Given the description of an element on the screen output the (x, y) to click on. 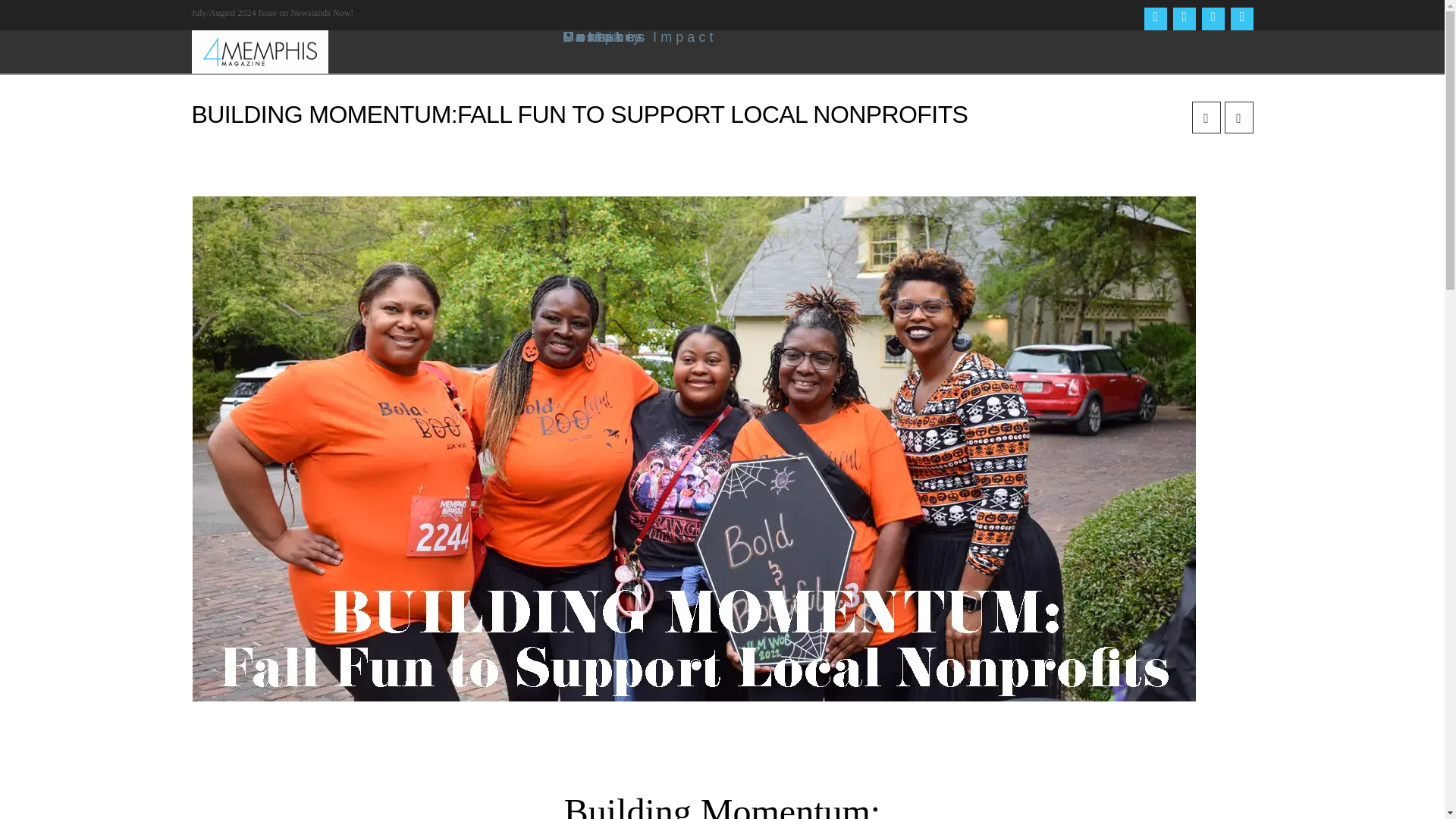
Facebook (1154, 18)
Instagram (1212, 18)
Pinterest (1241, 18)
Twitter (1183, 18)
